Given the description of an element on the screen output the (x, y) to click on. 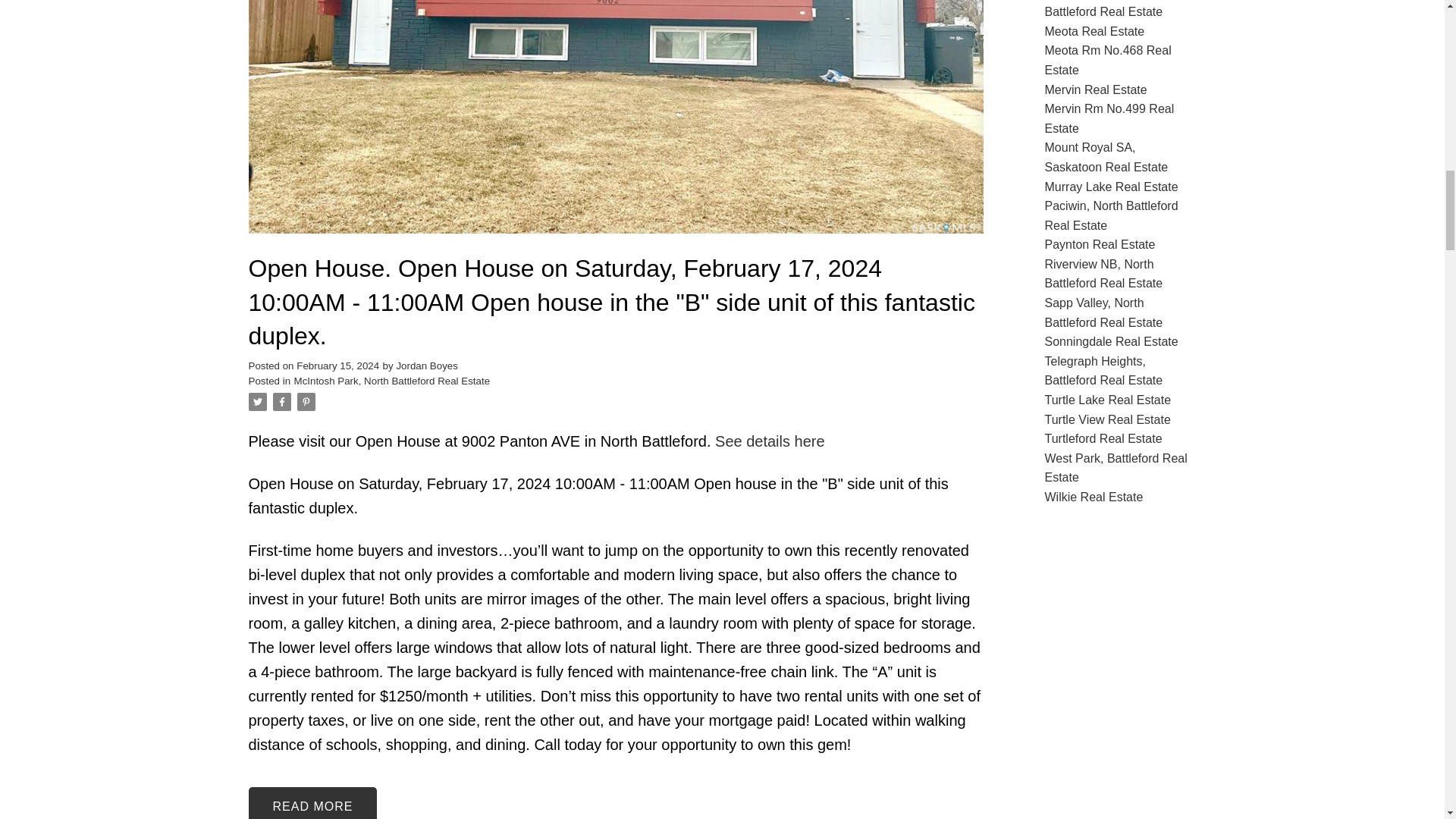
See details here (769, 441)
McIntosh Park, North Battleford Real Estate (392, 380)
READ (312, 803)
